Given the description of an element on the screen output the (x, y) to click on. 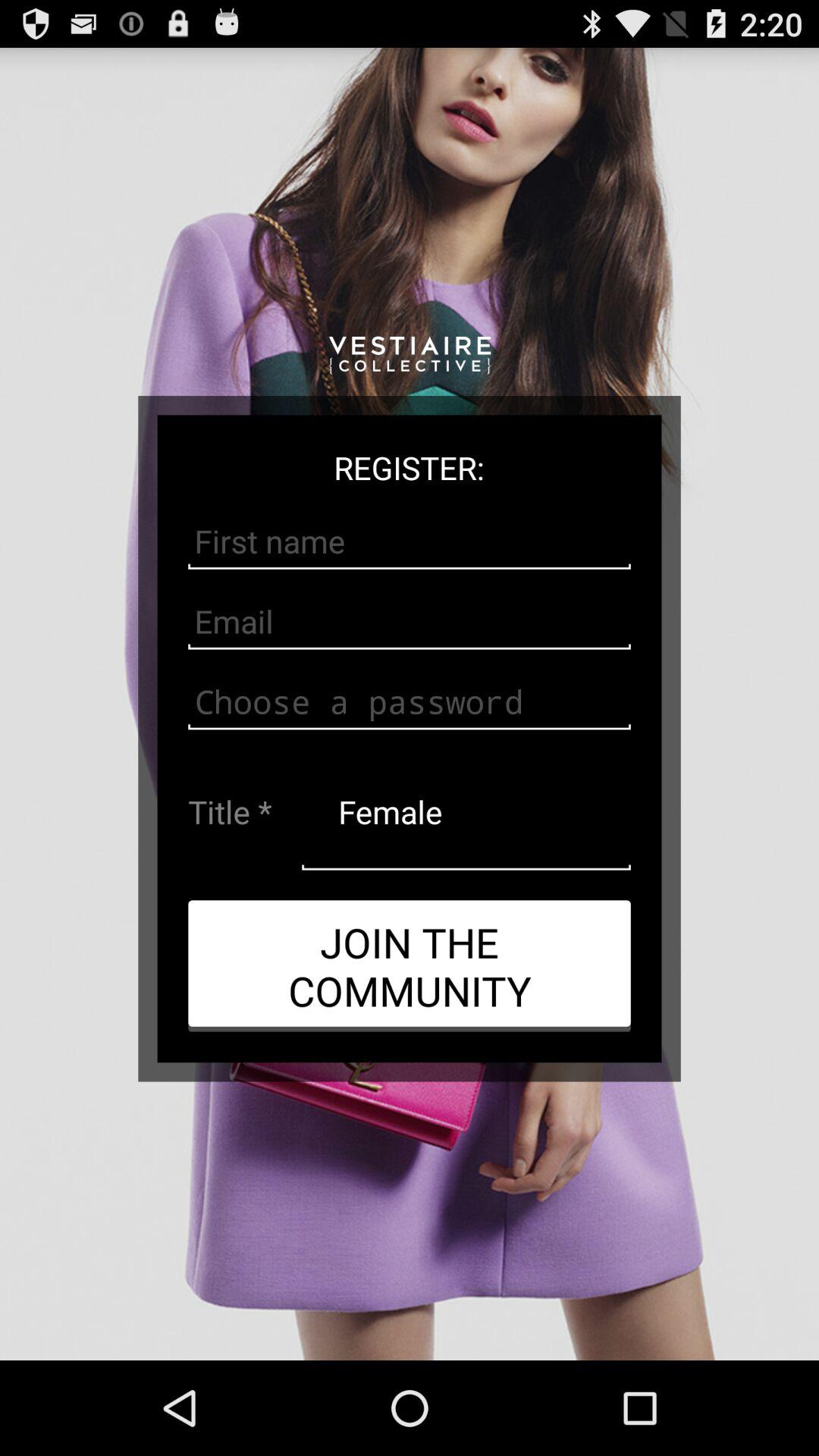
open join the community item (409, 965)
